Given the description of an element on the screen output the (x, y) to click on. 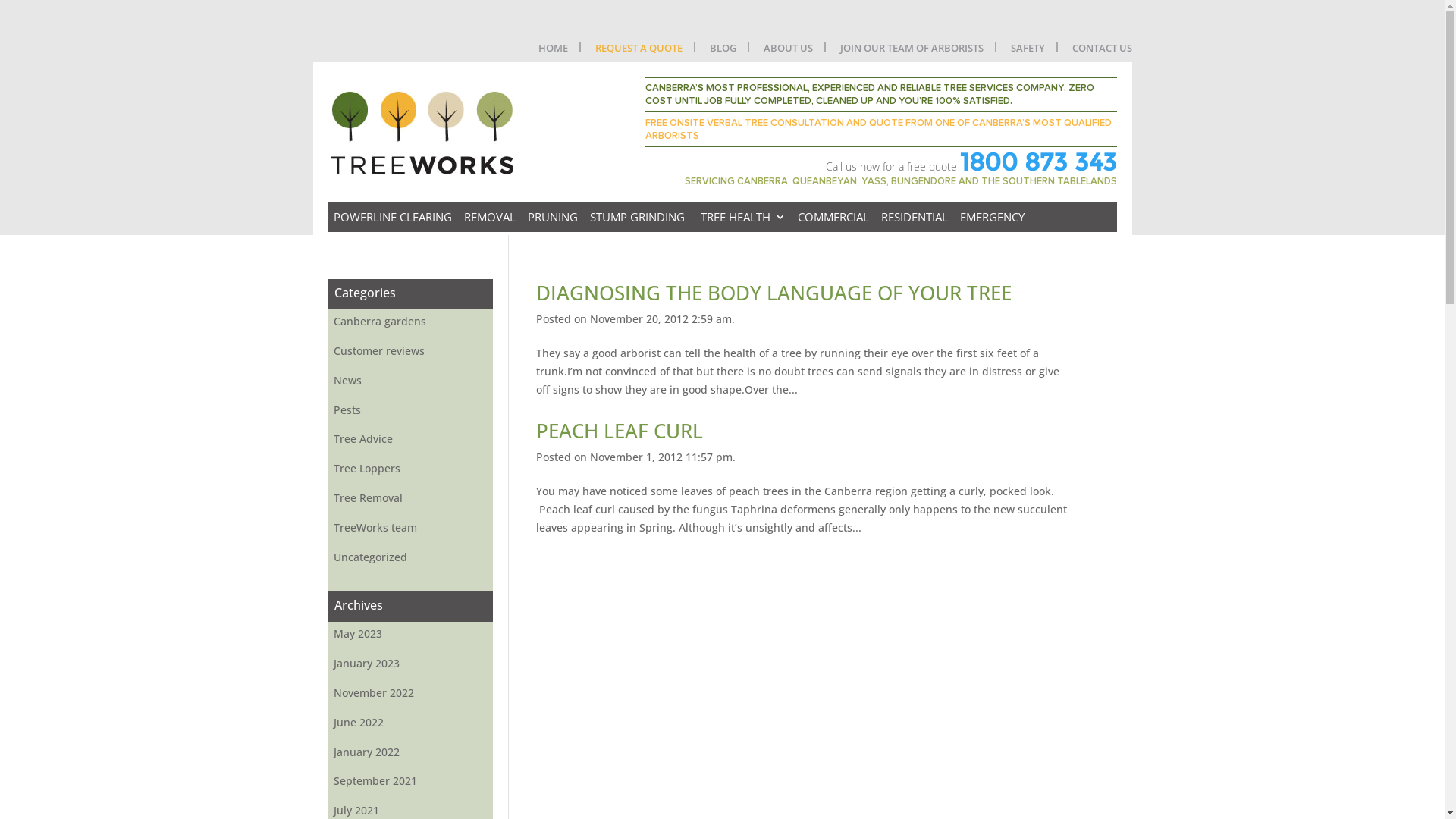
News Element type: text (409, 380)
January 2022 Element type: text (409, 752)
COMMERCIAL Element type: text (829, 216)
September 2021 Element type: text (409, 780)
BLOG Element type: text (722, 51)
Tree Removal Element type: text (409, 498)
Customer reviews Element type: text (409, 350)
DIAGNOSING THE BODY LANGUAGE OF YOUR TREE Element type: text (773, 292)
REMOVAL Element type: text (486, 216)
Pests Element type: text (409, 410)
EMERGENCY Element type: text (988, 216)
RESIDENTIAL Element type: text (911, 216)
Canberra gardens Element type: text (409, 321)
POWERLINE CLEARING Element type: text (389, 216)
HOME Element type: text (552, 51)
June 2022 Element type: text (409, 722)
1800 873 343 Element type: text (1038, 161)
REQUEST A QUOTE Element type: text (637, 51)
PEACH LEAF CURL Element type: text (619, 430)
ABOUT US Element type: text (787, 51)
TreeWorks team Element type: text (409, 527)
STUMP GRINDING Element type: text (635, 216)
Tree Advice Element type: text (409, 438)
January 2023 Element type: text (409, 663)
Uncategorized Element type: text (409, 557)
November 2022 Element type: text (409, 692)
SAFETY Element type: text (1027, 51)
CONTACT US Element type: text (1102, 51)
Tree Loppers Element type: text (409, 468)
TREE HEALTH Element type: text (739, 216)
PRUNING Element type: text (549, 216)
JOIN OUR TEAM OF ARBORISTS Element type: text (911, 51)
May 2023 Element type: text (409, 633)
